Given the description of an element on the screen output the (x, y) to click on. 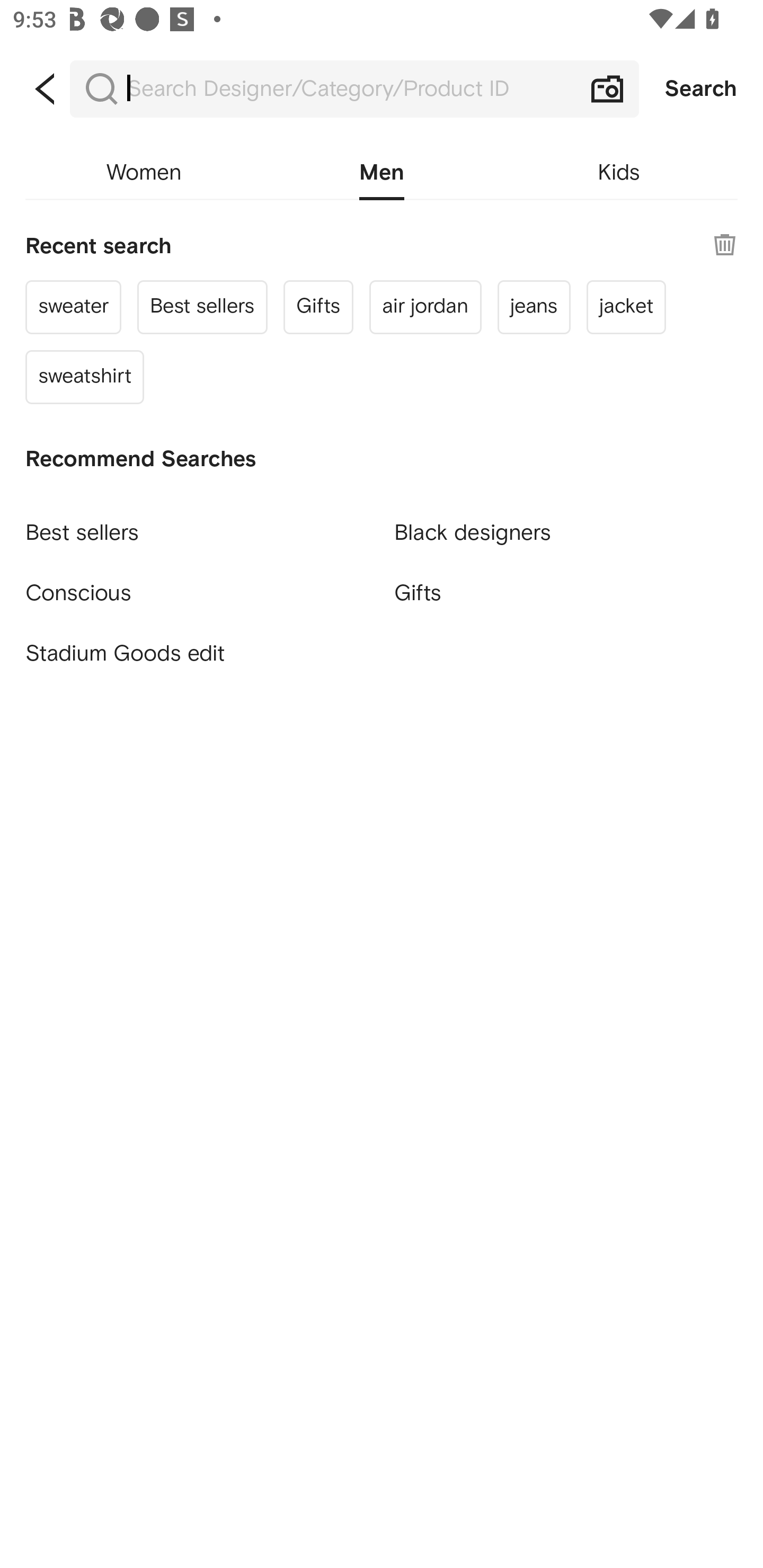
Search (701, 89)
Women (143, 172)
Kids (618, 172)
sweater (73, 306)
Best sellers (202, 306)
Gifts (318, 306)
air jordan (425, 306)
jeans (533, 306)
jacket (626, 306)
sweatshirt (84, 376)
Best sellers (196, 525)
Black designers (565, 525)
Conscious (196, 585)
Gifts (565, 593)
Stadium Goods edit (196, 653)
